Given the description of an element on the screen output the (x, y) to click on. 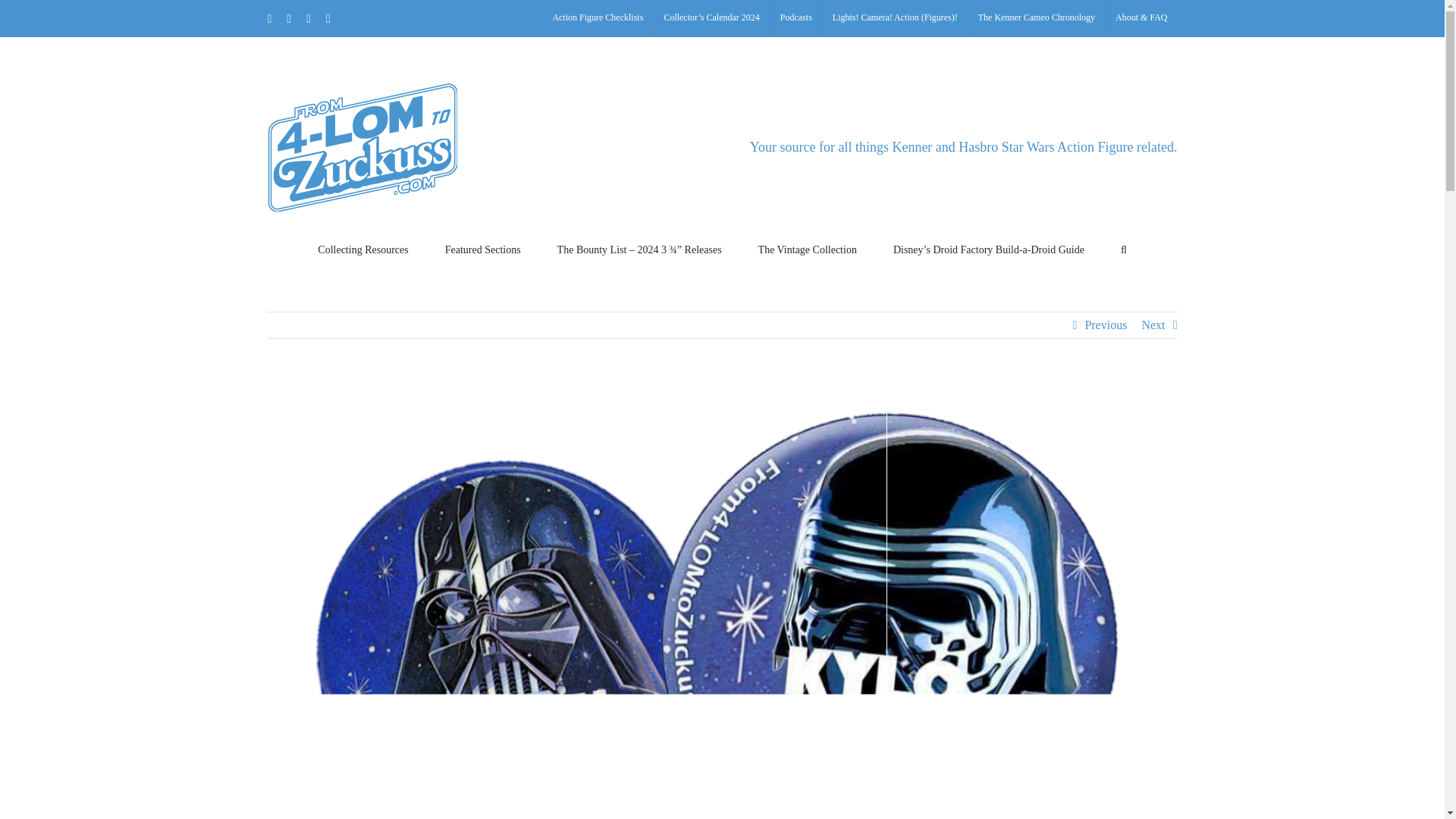
Action Figure Checklists (596, 18)
The Kenner Cameo Chronology (1036, 18)
Featured Sections (483, 250)
Podcasts (796, 18)
Collecting Resources (362, 250)
